Given the description of an element on the screen output the (x, y) to click on. 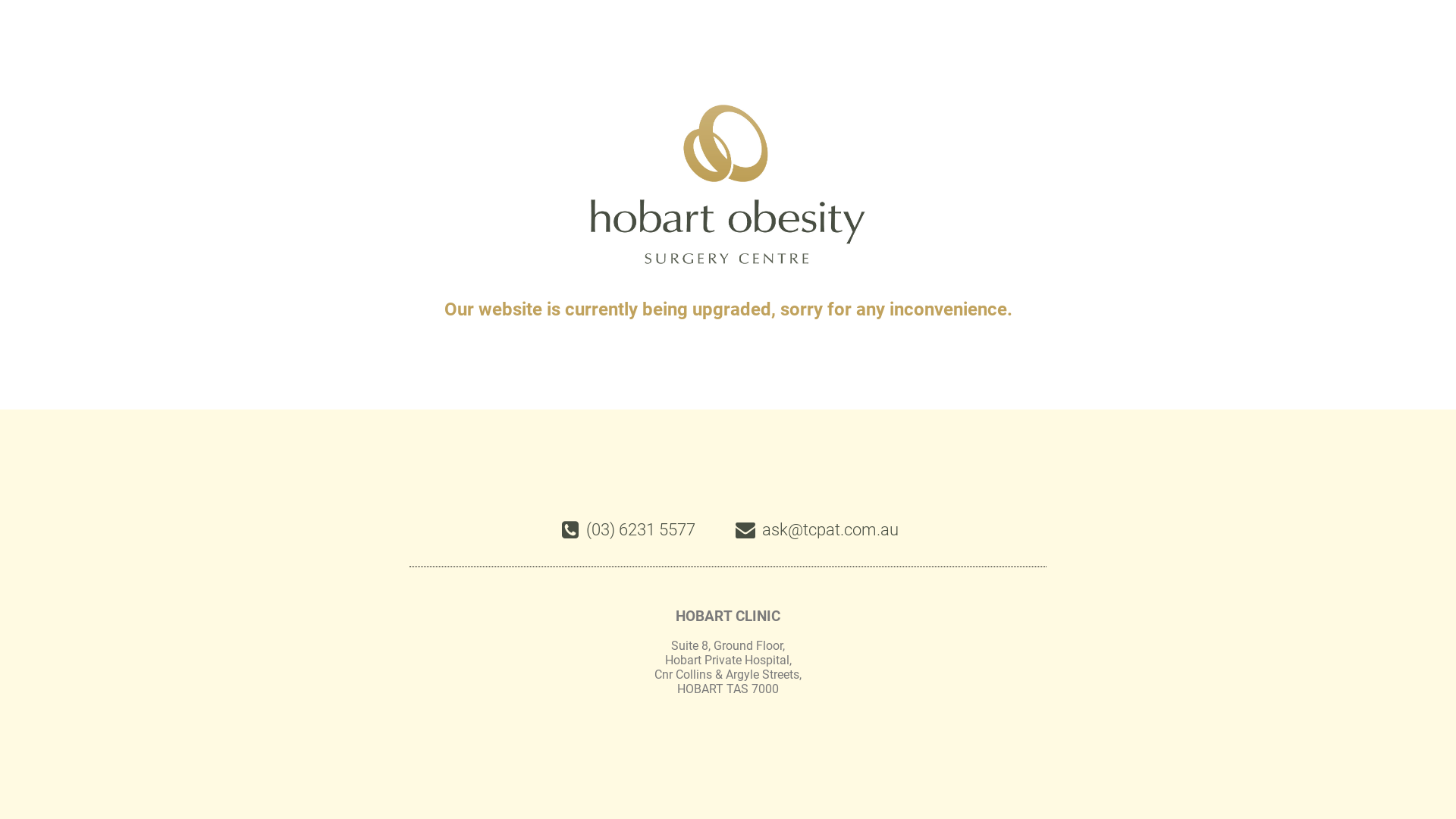
ask@tcpat.com.au Element type: text (815, 529)
(03) 6231 5577 Element type: text (627, 529)
HobartObesity_logo (2) Element type: hover (727, 184)
